Given the description of an element on the screen output the (x, y) to click on. 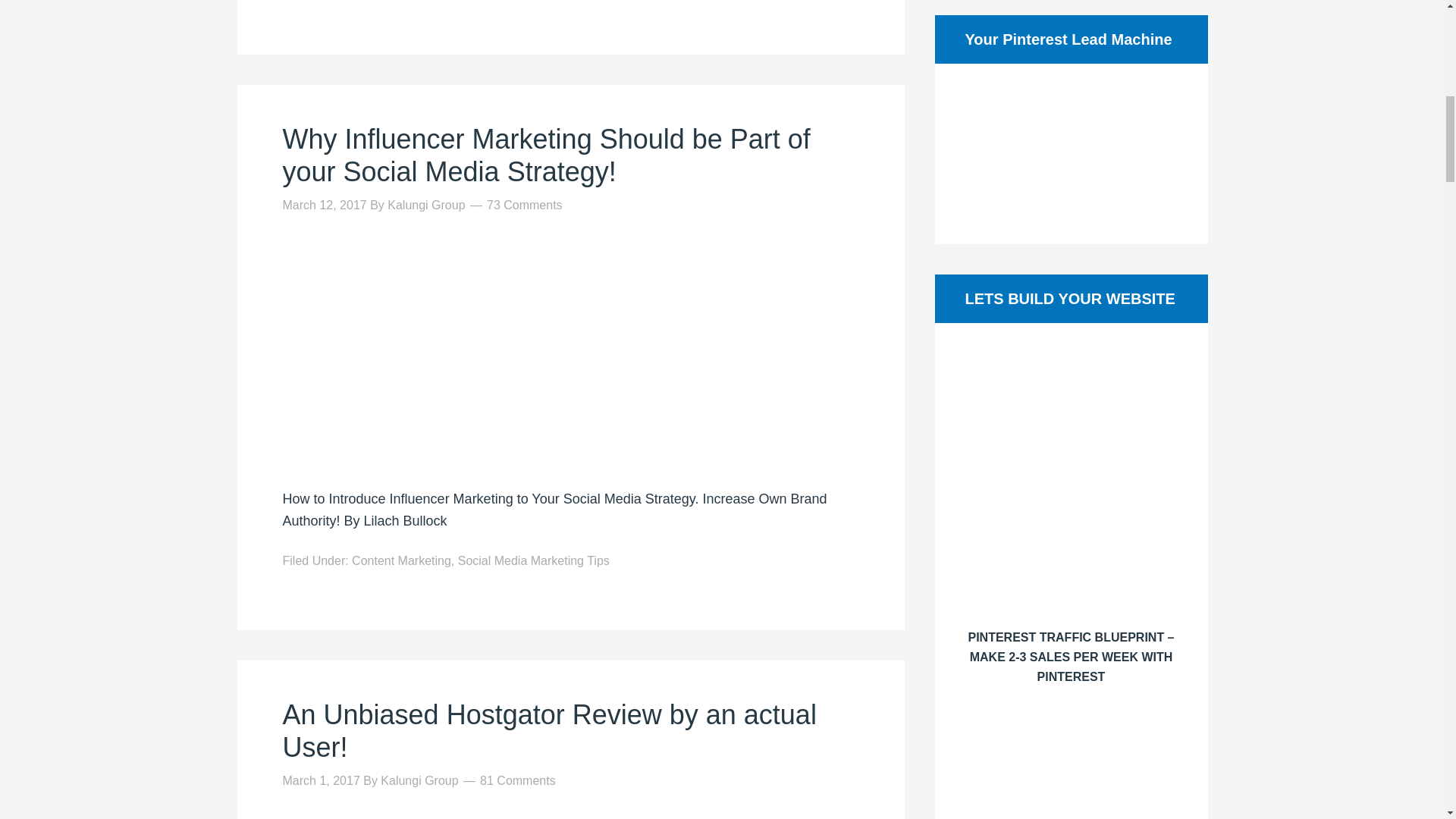
Kalungi Group (425, 205)
73 Comments (524, 205)
